Given the description of an element on the screen output the (x, y) to click on. 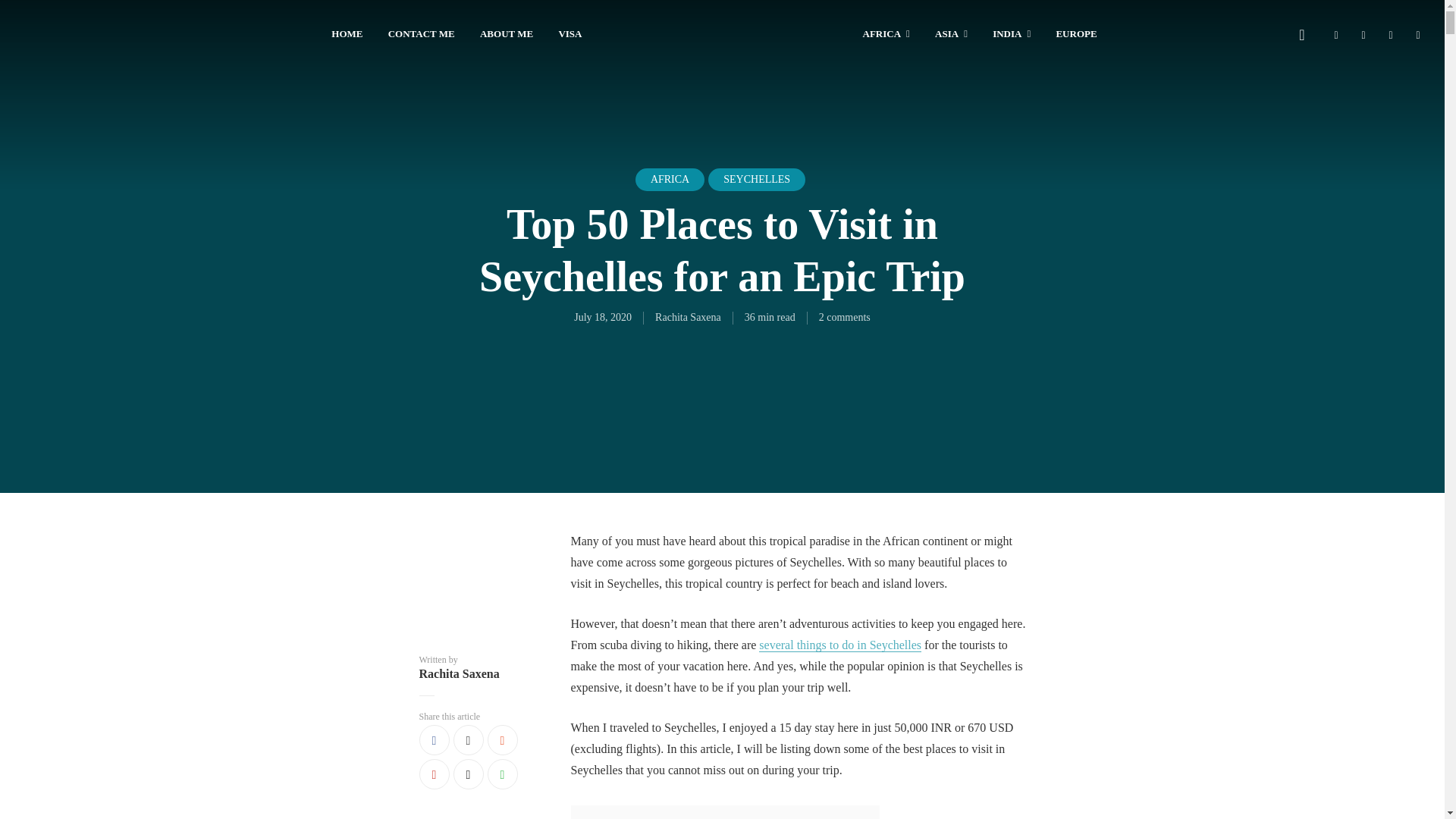
EUROPE (1075, 34)
AFRICA (886, 34)
ABOUT ME (506, 34)
INDIA (1011, 34)
HOME (346, 34)
VISA (568, 34)
CONTACT ME (421, 34)
ASIA (951, 34)
2 comments (844, 317)
